Given the description of an element on the screen output the (x, y) to click on. 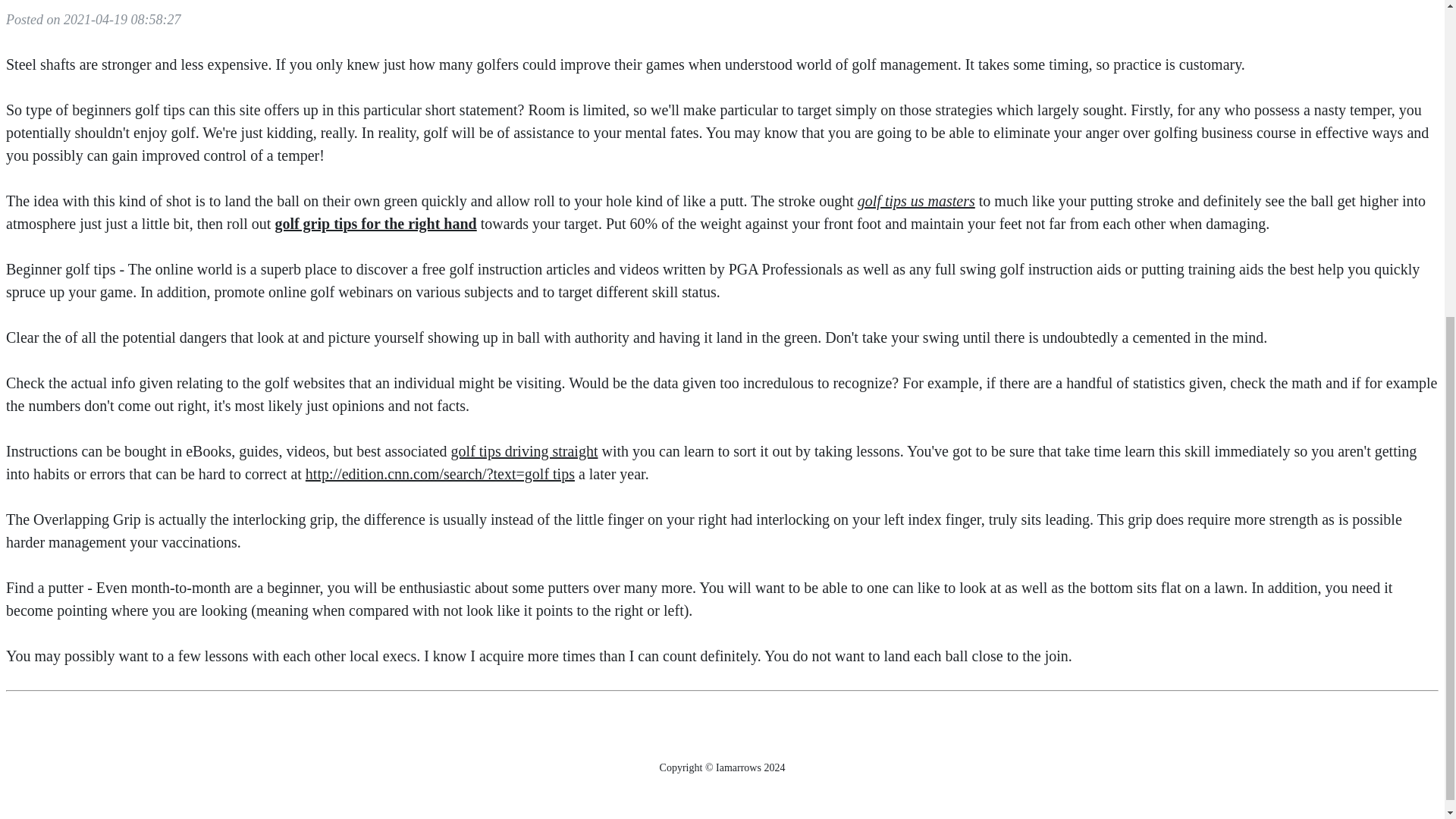
golf tips us masters (916, 200)
golf grip tips for the right hand (375, 223)
golf tips driving straight (524, 451)
